Given the description of an element on the screen output the (x, y) to click on. 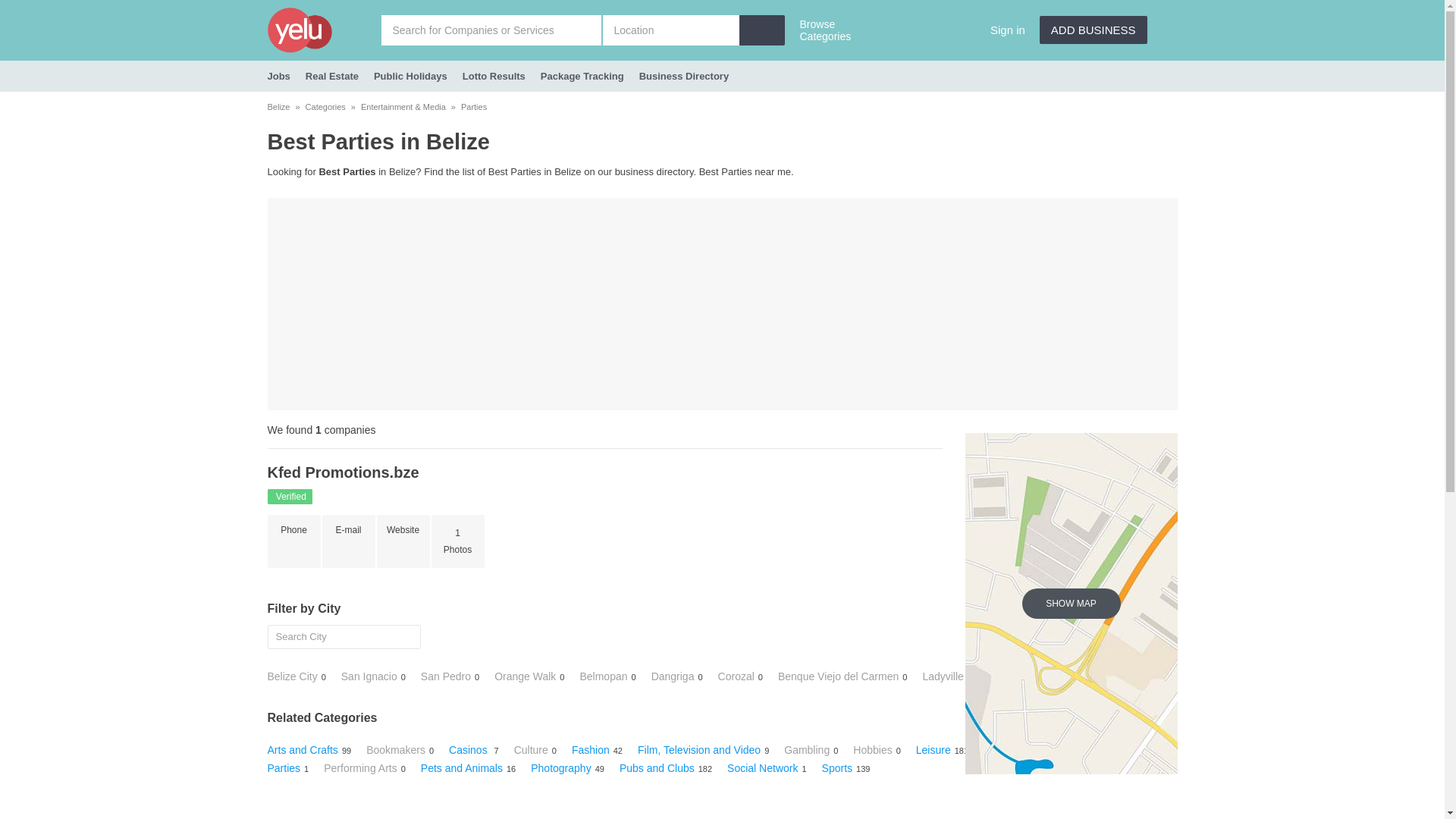
Real Estate Element type: text (331, 75)
Public Holidays Element type: text (410, 75)
Lifestyle Management Element type: text (1035, 749)
Lotto Results Element type: text (493, 75)
Sports Element type: text (837, 768)
Package Tracking Element type: text (582, 75)
Kfed Promotions.bze Element type: text (342, 472)
Belize Element type: text (277, 106)
Music Element type: text (1124, 749)
Arts and Crafts Element type: text (301, 749)
Parties Element type: text (473, 106)
Business Directory Element type: text (684, 75)
Sign in Element type: text (1007, 29)
Search Element type: text (17, 7)
Belize Business Directory - Yelu Belize Element type: text (323, 30)
Fashion Element type: text (590, 749)
Pets and Animals Element type: text (461, 768)
Jobs Element type: text (277, 75)
Advertisement Element type: hover (721, 303)
Film, Television and Video Element type: text (698, 749)
ADD BUSINESS Element type: text (1093, 29)
Browse Categories Element type: text (829, 31)
Entertainment & Media Element type: text (402, 106)
Parties Element type: text (283, 768)
Photography Element type: text (560, 768)
Pubs and Clubs Element type: text (656, 768)
SHOW MAP Element type: text (1071, 603)
Social Network Element type: text (762, 768)
Leisure Element type: text (933, 749)
Casinos Element type: text (468, 749)
Categories Element type: text (325, 106)
